Given the description of an element on the screen output the (x, y) to click on. 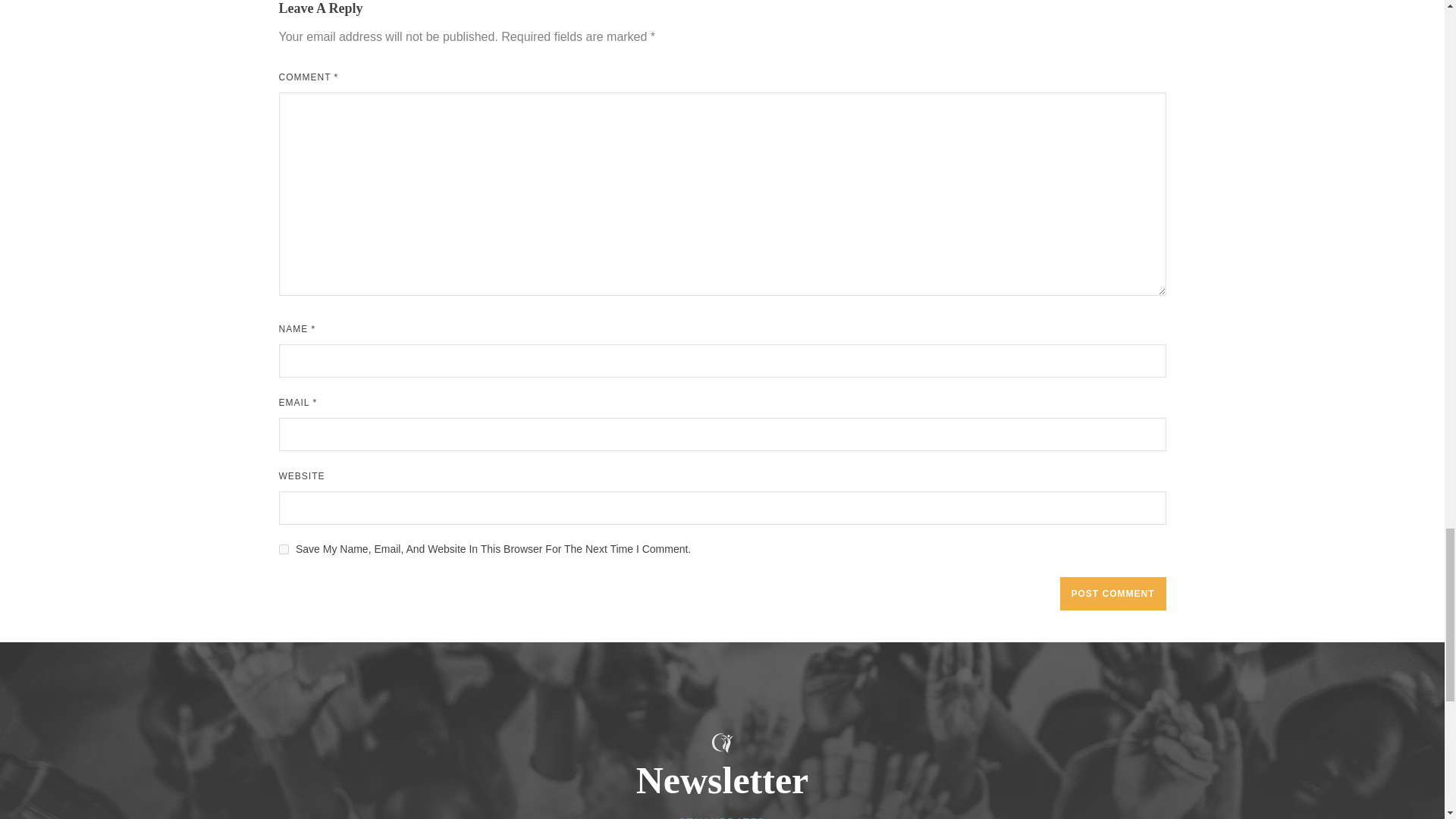
yes (283, 549)
Post Comment (1112, 593)
